Given the description of an element on the screen output the (x, y) to click on. 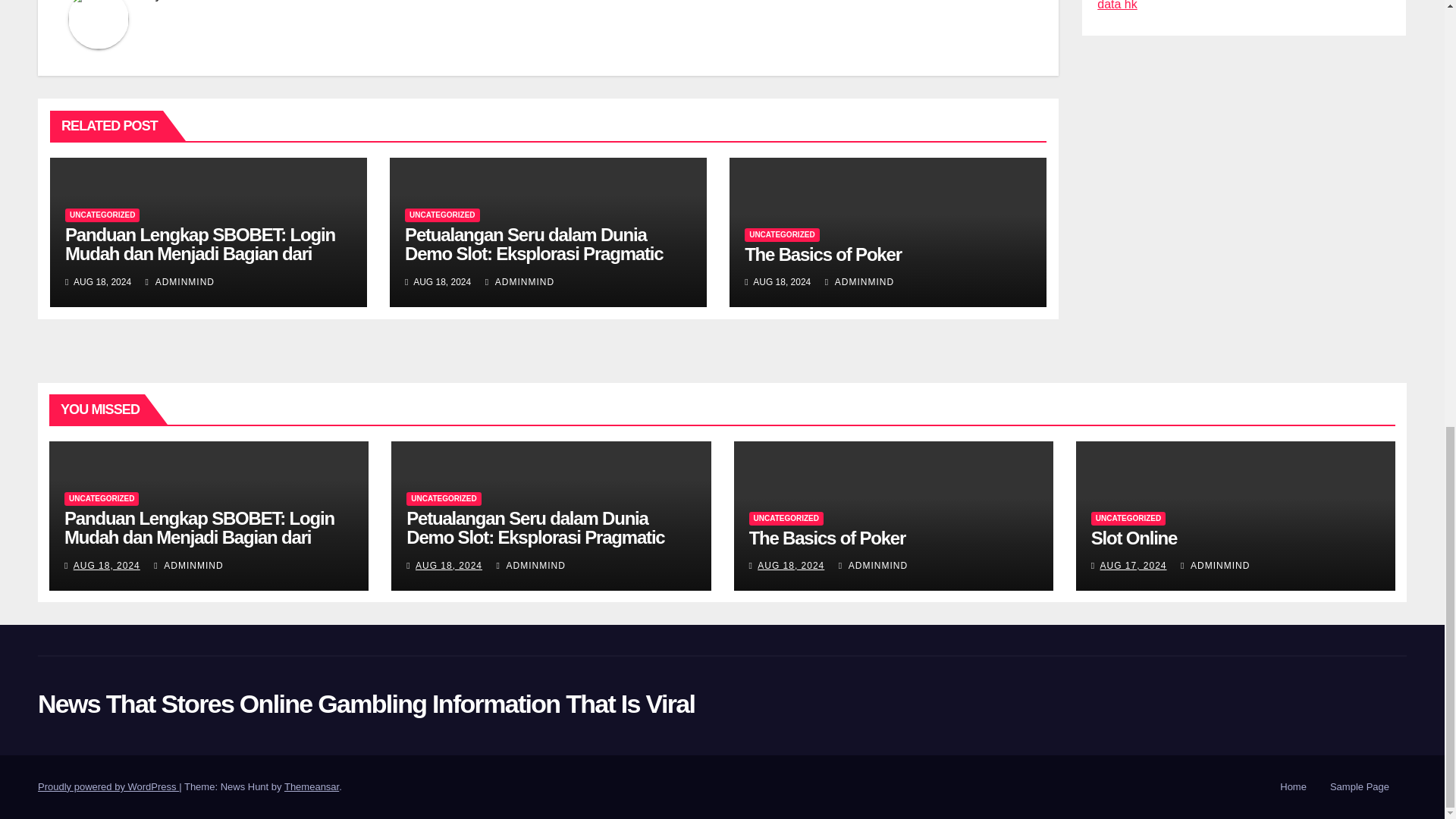
UNCATEGORIZED (102, 214)
Home (1293, 786)
ADMINMIND (859, 281)
adminmind (188, 0)
The Basics of Poker (822, 254)
Permalink to: The Basics of Poker (822, 254)
UNCATEGORIZED (441, 214)
Permalink to: The Basics of Poker (827, 537)
ADMINMIND (179, 281)
